Given the description of an element on the screen output the (x, y) to click on. 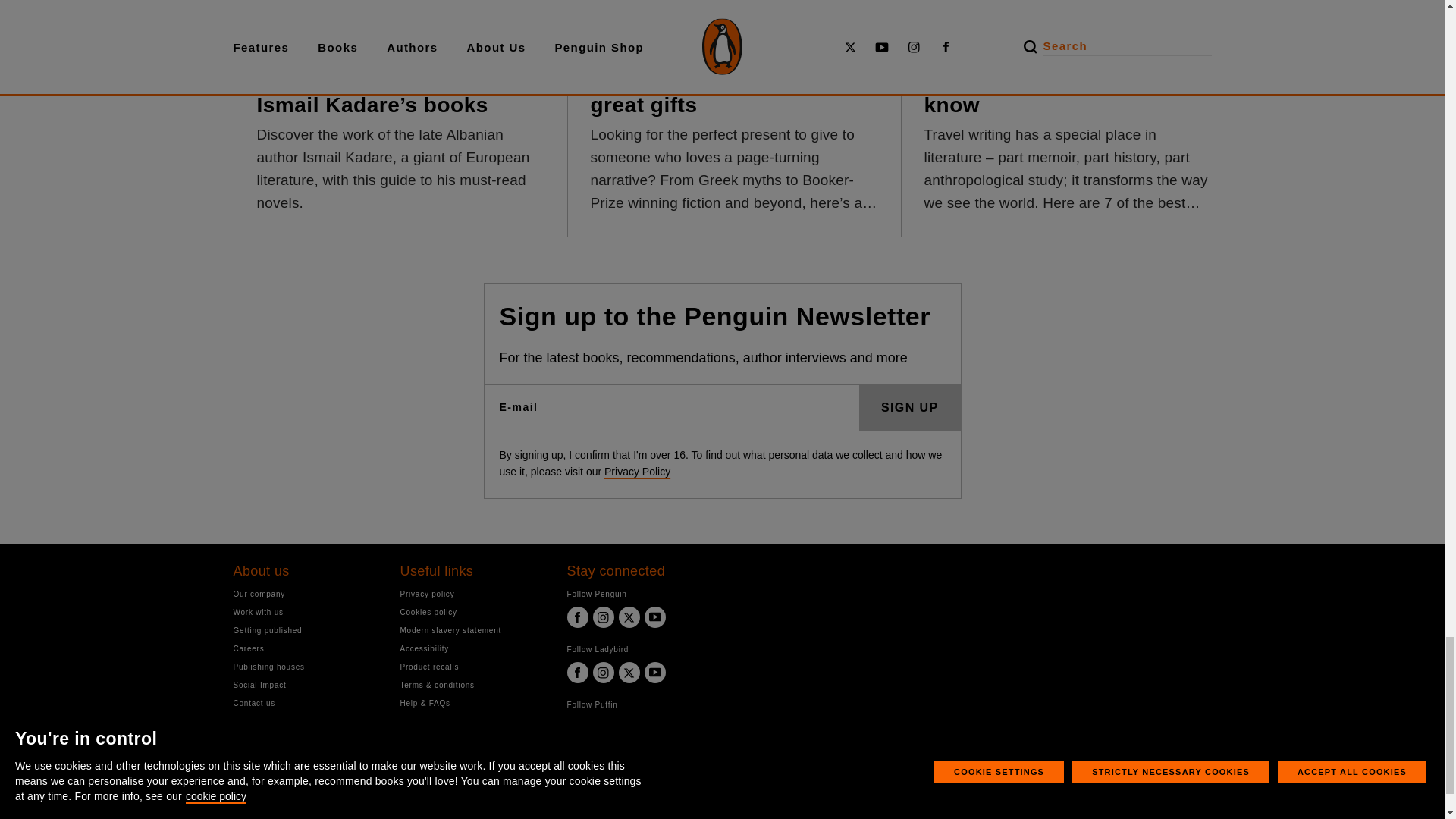
Modern slavery statement (472, 630)
Contact us (304, 703)
Privacy Policy (636, 471)
SIGN UP (909, 407)
Accessibility (472, 648)
Product recalls (472, 666)
Cookies policy (472, 612)
Work with us (304, 612)
Privacy policy (472, 594)
Publishing houses (304, 666)
Social Impact (304, 684)
Our company (304, 594)
Getting published (304, 630)
Pay gap reporting (472, 721)
Careers (304, 648)
